Given the description of an element on the screen output the (x, y) to click on. 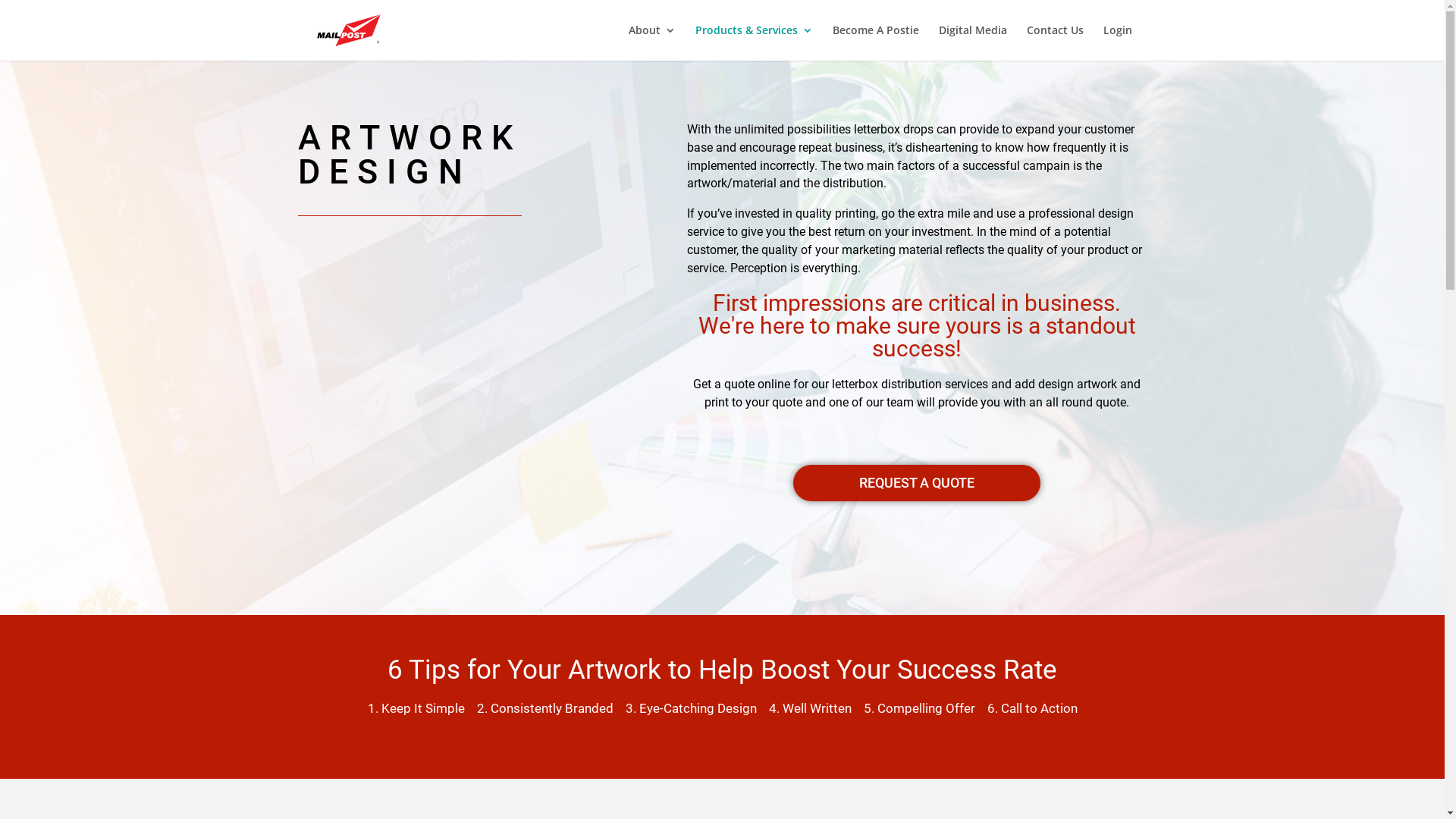
Login Element type: text (1116, 42)
Contact Us Element type: text (1054, 42)
Become A Postie Element type: text (875, 42)
Products & Services Element type: text (753, 42)
Digital Media Element type: text (972, 42)
About Element type: text (650, 42)
REQUEST A QUOTE Element type: text (916, 482)
